Given the description of an element on the screen output the (x, y) to click on. 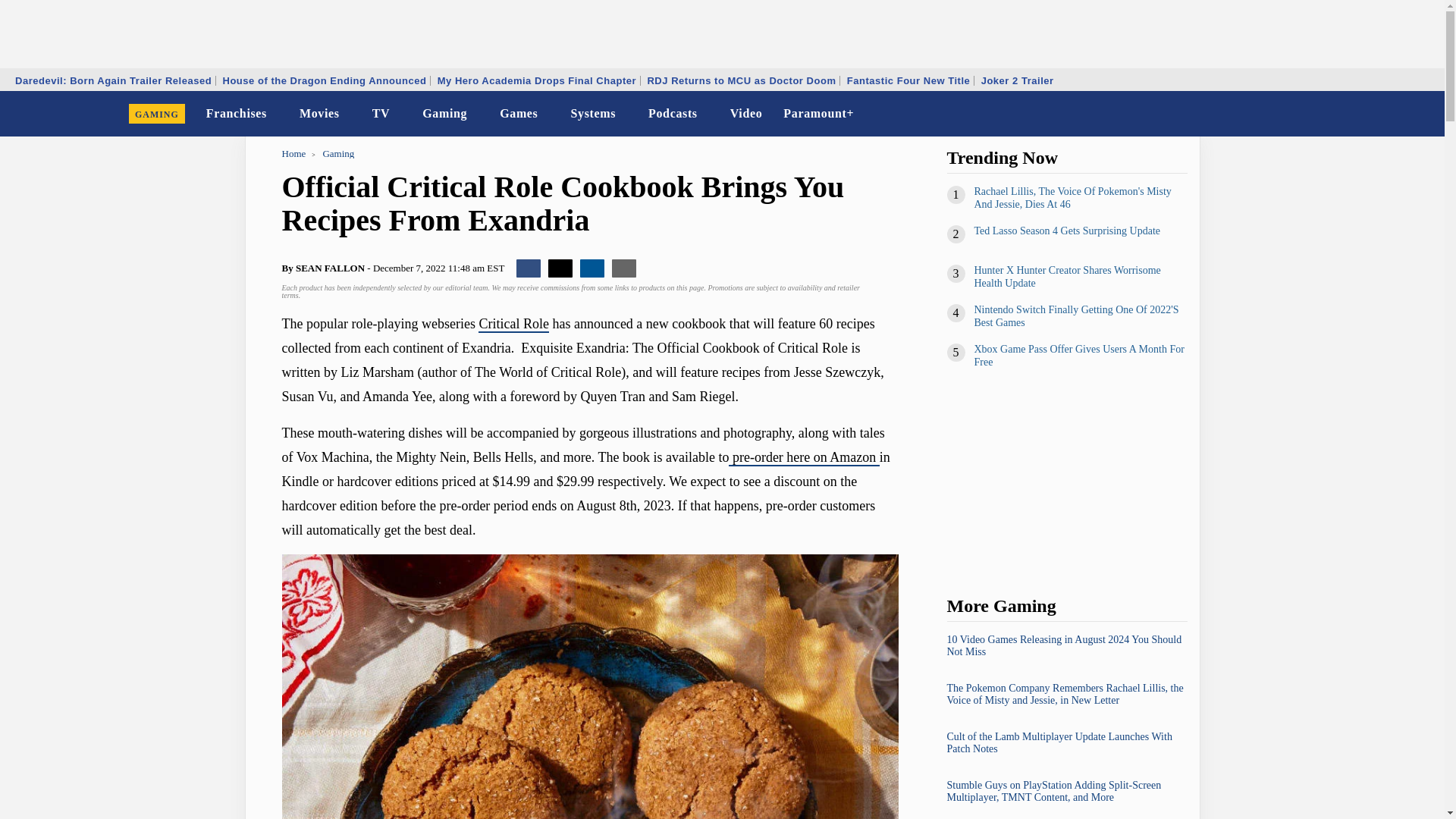
Search (1422, 114)
House of the Dragon Ending Announced (323, 80)
Dark Mode (1394, 113)
Movies (320, 113)
My Hero Academia Drops Final Chapter (536, 80)
Joker 2 Trailer (1017, 80)
GAMING (157, 113)
RDJ Returns to MCU as Doctor Doom (741, 80)
Fantastic Four New Title (908, 80)
